Given the description of an element on the screen output the (x, y) to click on. 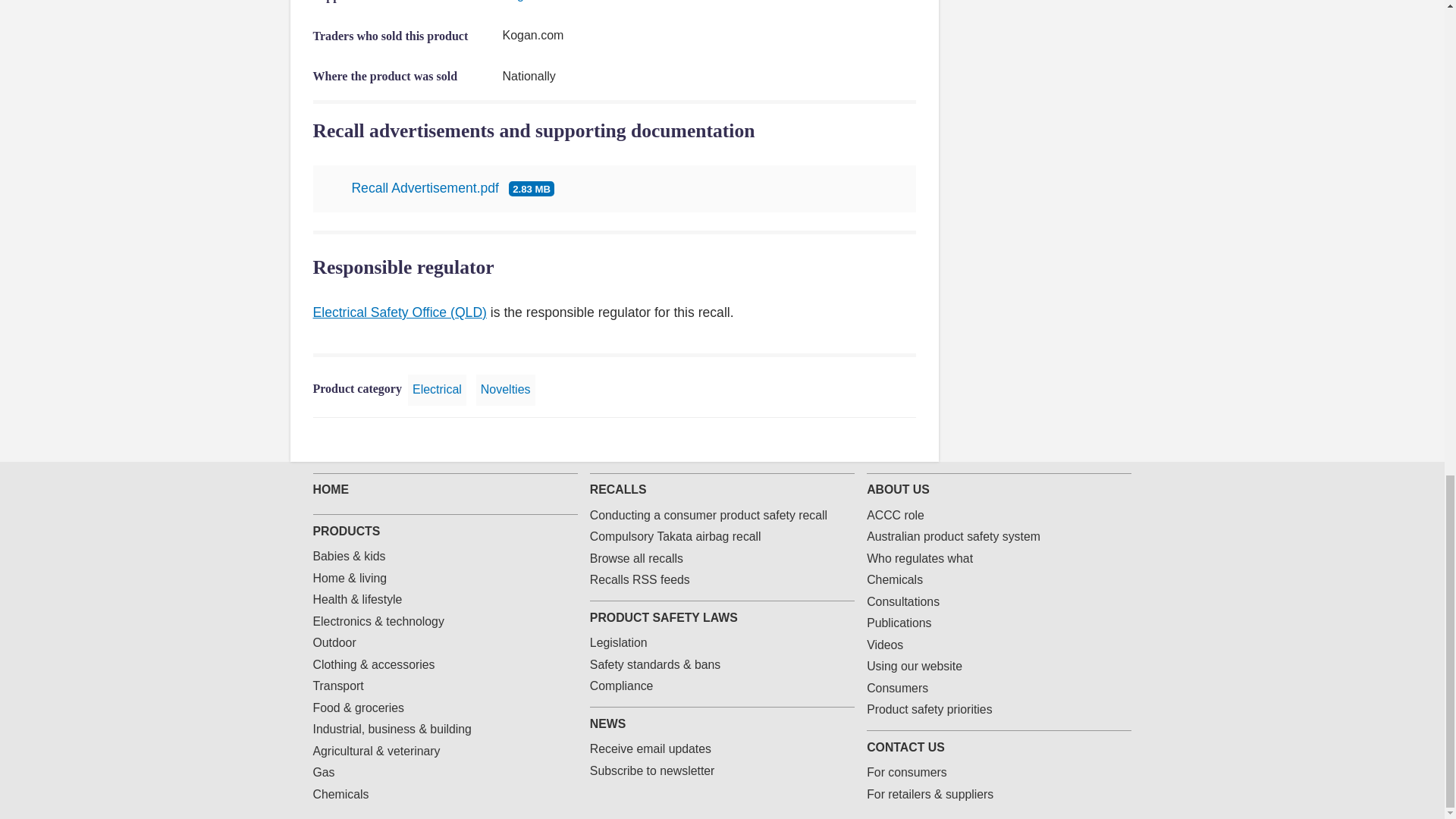
Share on LinkedIn (857, 439)
Share on Facebook (809, 439)
Share on Twitter (834, 439)
Print (906, 439)
Email (882, 439)
